Given the description of an element on the screen output the (x, y) to click on. 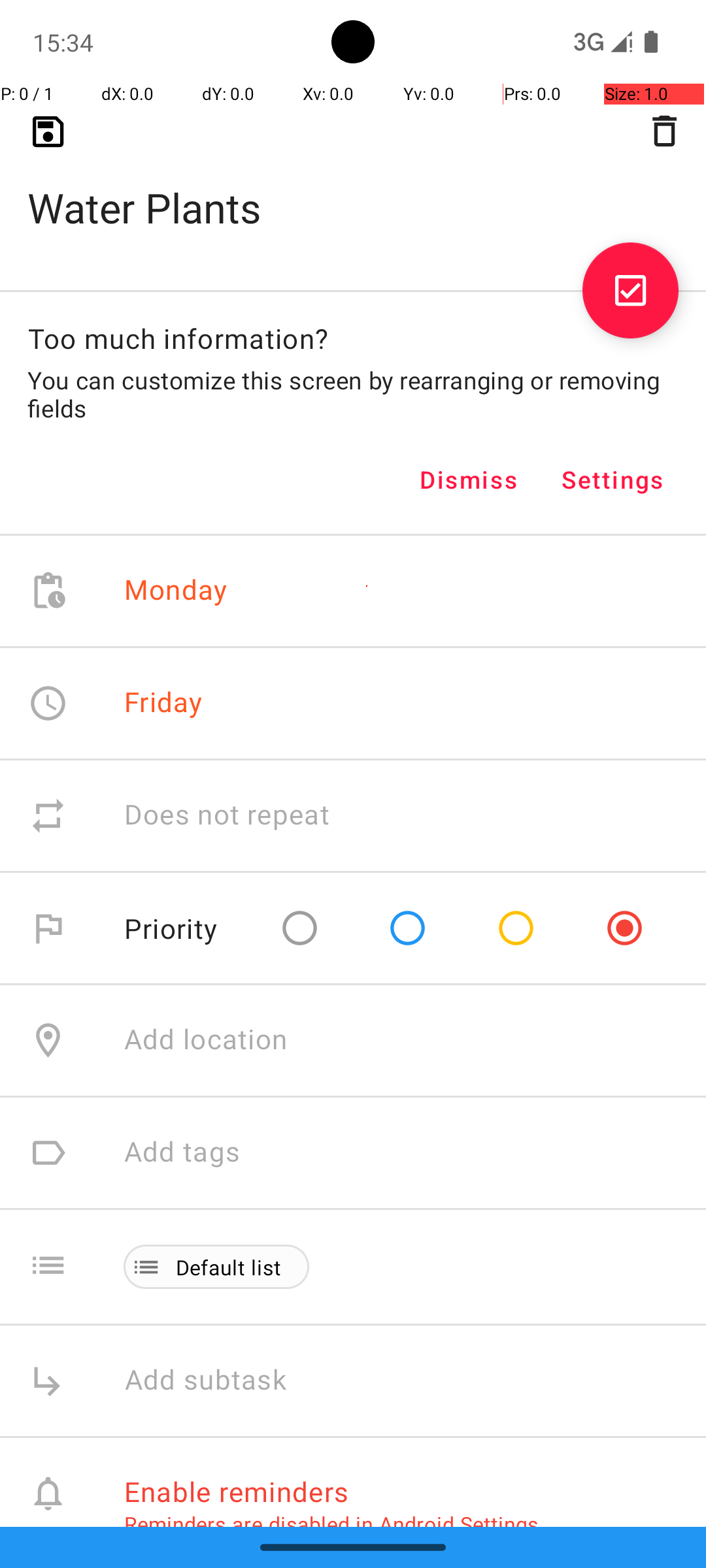
Water Plants Element type: android.widget.EditText (353, 186)
Enable reminders Element type: android.widget.TextView (236, 1490)
Reminders are disabled in Android Settings Element type: android.widget.TextView (331, 1523)
